Given the description of an element on the screen output the (x, y) to click on. 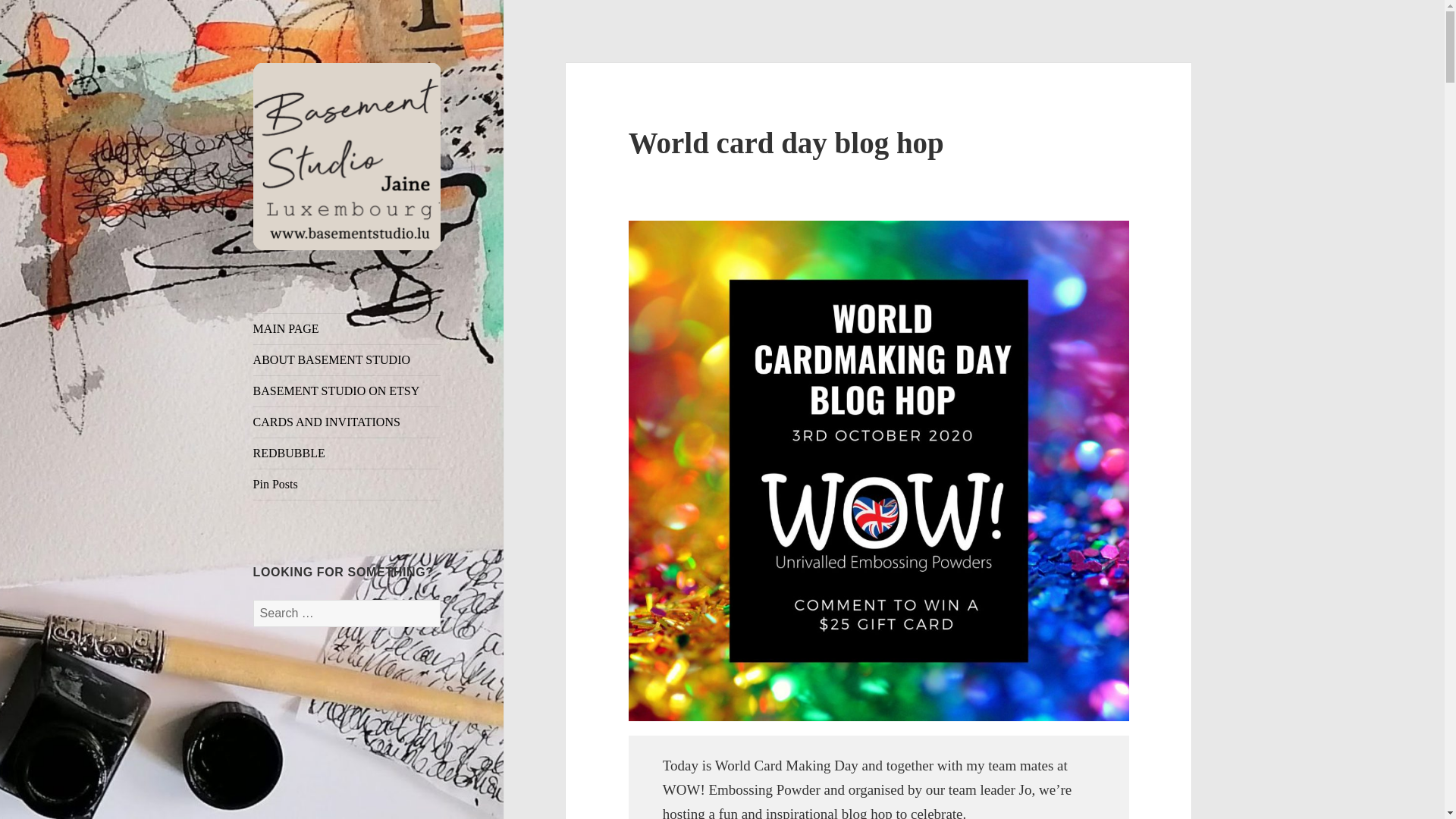
Basement Studio (336, 273)
REDBUBBLE (347, 453)
Pin Posts (347, 484)
BASEMENT STUDIO ON ETSY (347, 390)
ABOUT BASEMENT STUDIO (347, 359)
MAIN PAGE (347, 328)
CARDS AND INVITATIONS (347, 422)
